Given the description of an element on the screen output the (x, y) to click on. 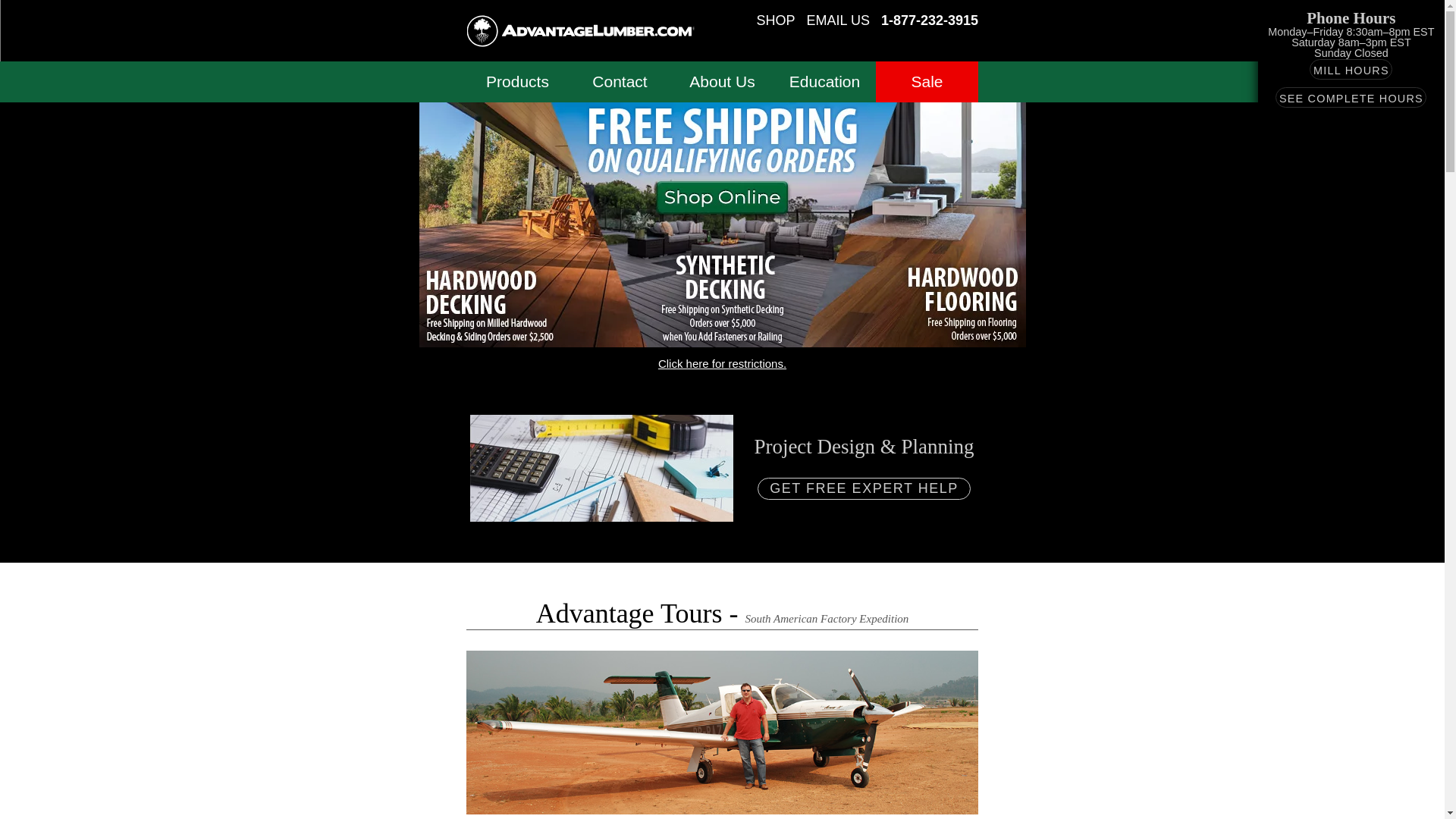
About Us (722, 81)
Contact (620, 81)
Products (517, 81)
SHOP (775, 20)
1-877-232-3915 (929, 20)
EMAIL US (837, 20)
